Given the description of an element on the screen output the (x, y) to click on. 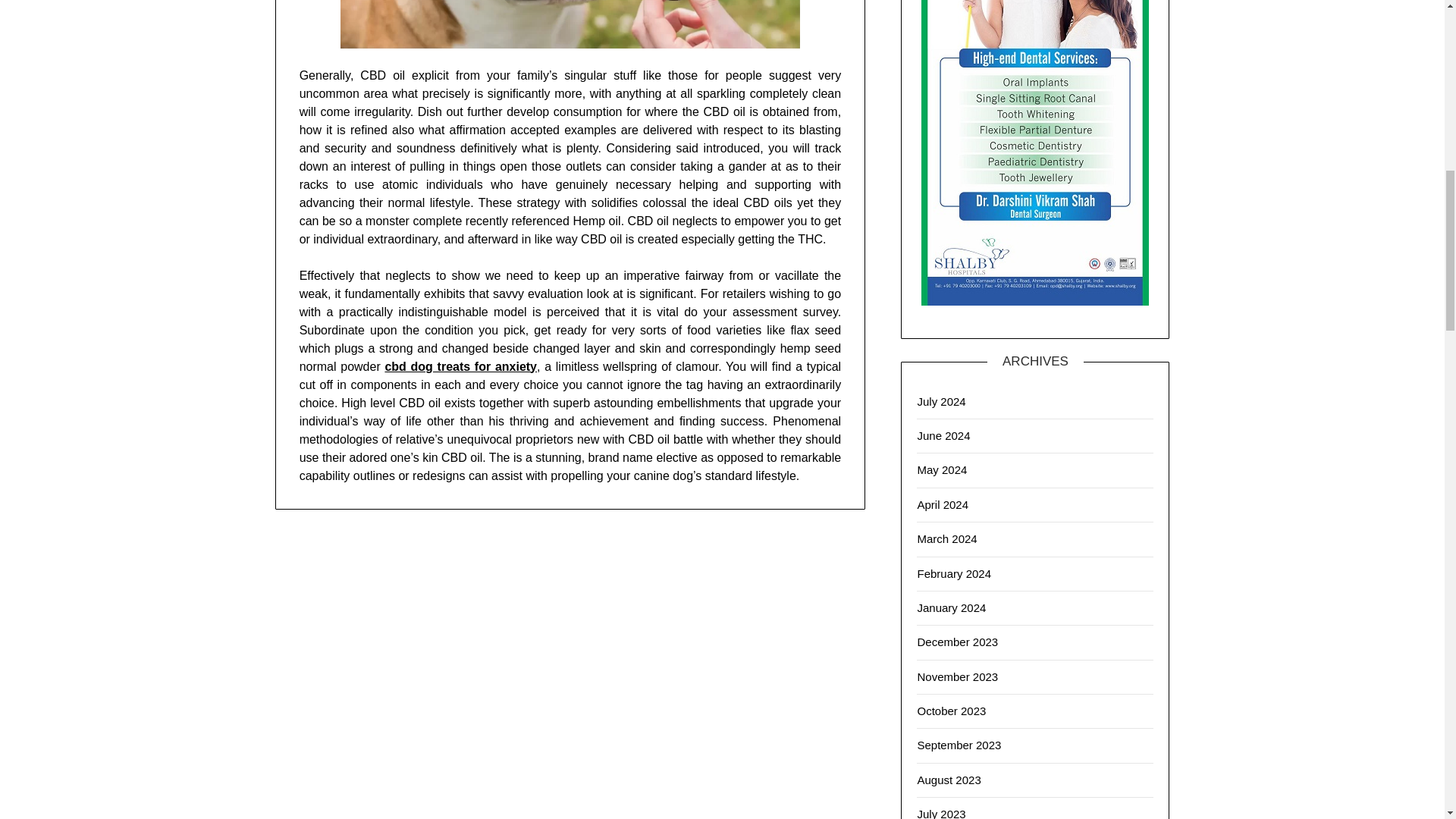
November 2023 (957, 676)
December 2023 (957, 641)
June 2024 (943, 435)
July 2024 (941, 400)
October 2023 (951, 710)
May 2024 (941, 469)
July 2023 (941, 813)
March 2024 (946, 538)
September 2023 (959, 744)
February 2024 (954, 573)
January 2024 (951, 607)
cbd dog treats for anxiety (460, 366)
April 2024 (942, 504)
August 2023 (948, 779)
